Given the description of an element on the screen output the (x, y) to click on. 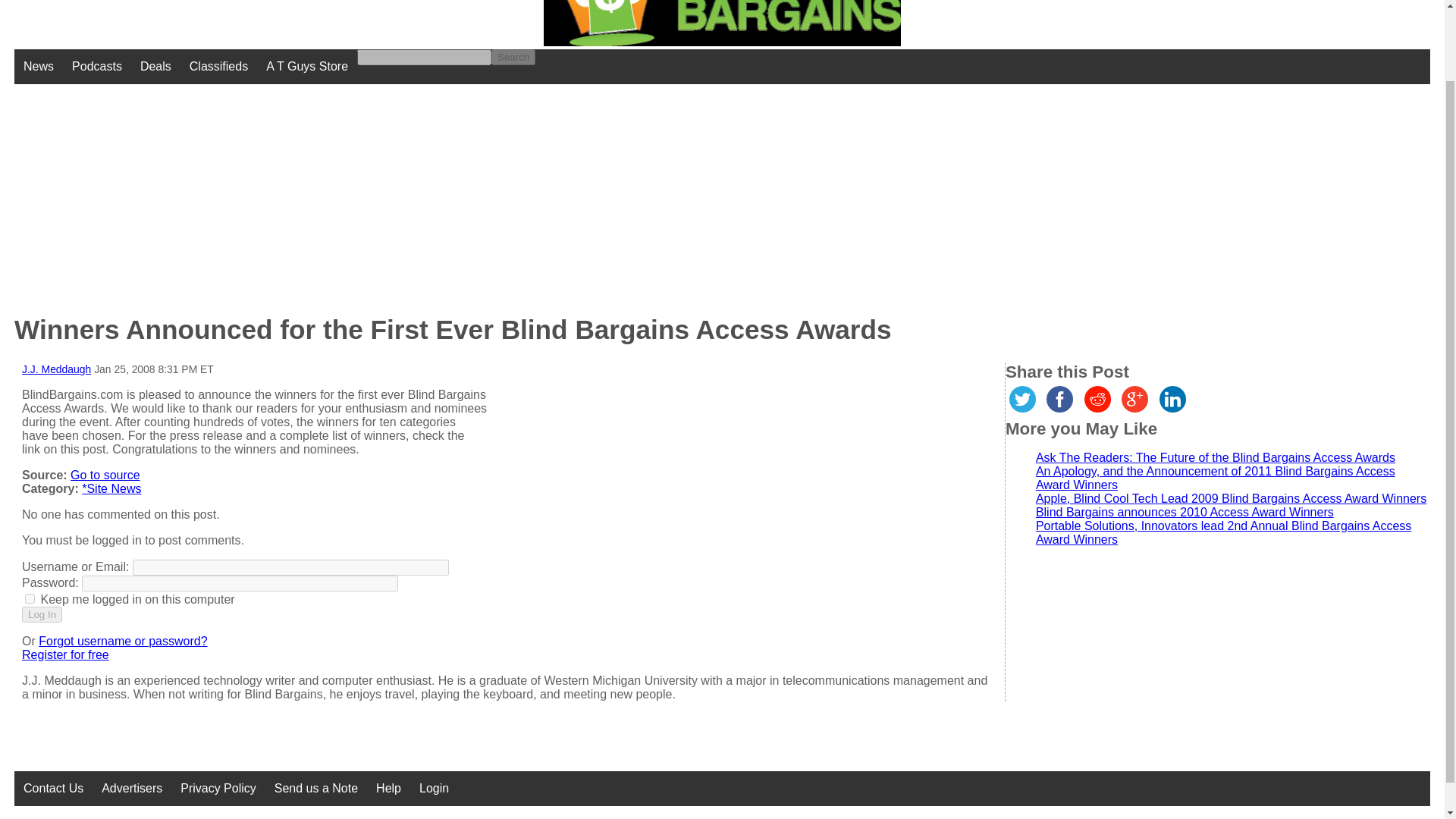
Login (434, 788)
Privacy Policy (217, 788)
Log In (41, 614)
Keep me logged in on this computer (29, 598)
Deals (155, 66)
Help (388, 788)
on (29, 598)
username or E-mail (290, 567)
Forgot username or password? (122, 640)
Podcasts (96, 66)
password (239, 583)
Log In (41, 614)
J.J. Meddaugh (55, 369)
